Given the description of an element on the screen output the (x, y) to click on. 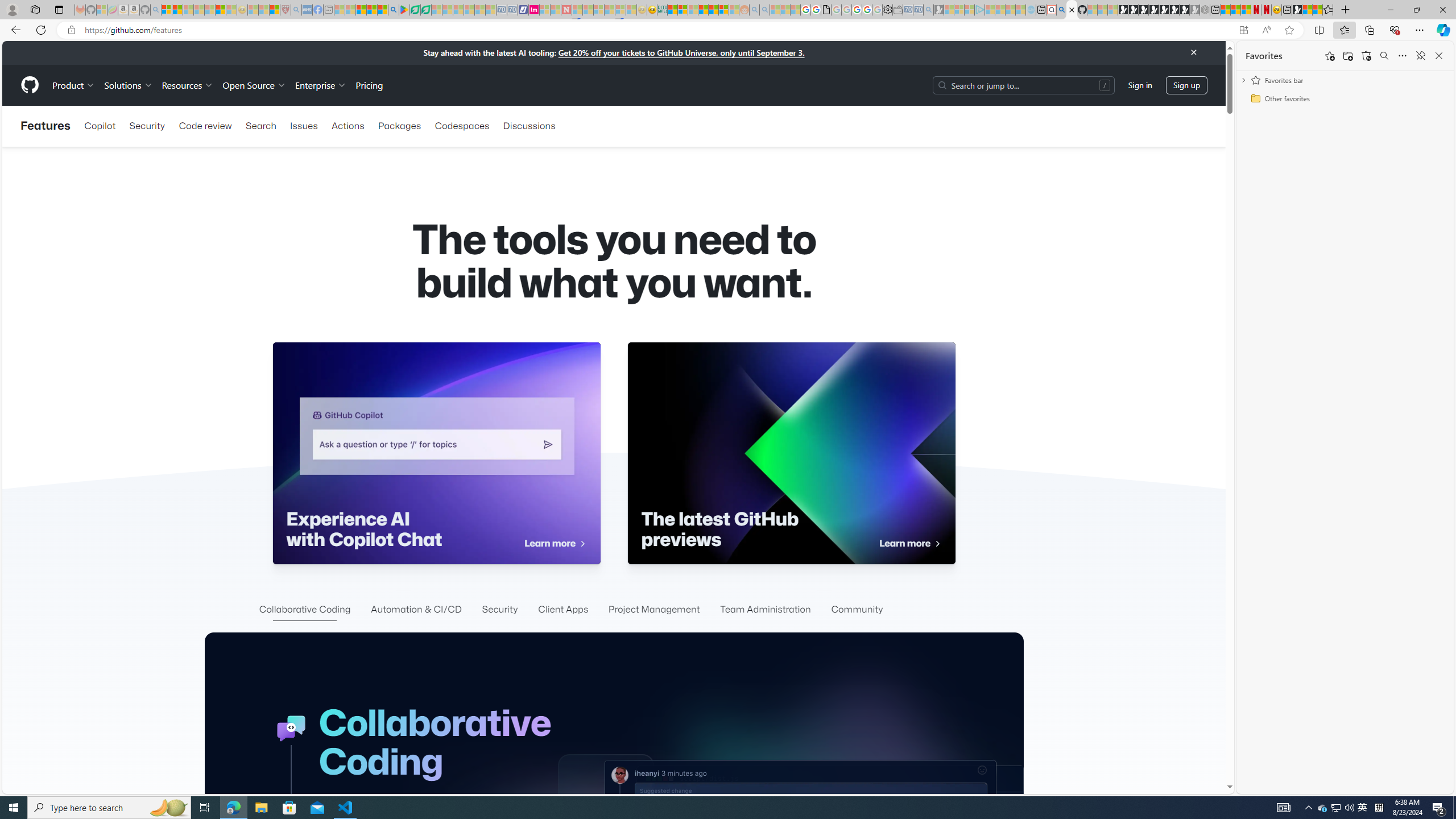
Microsoft Word - consumer-privacy address update 2.2021 (426, 9)
Enterprise (319, 84)
Sign up (1186, 84)
Security (499, 609)
Add folder (1347, 55)
Project Management (654, 609)
